Given the description of an element on the screen output the (x, y) to click on. 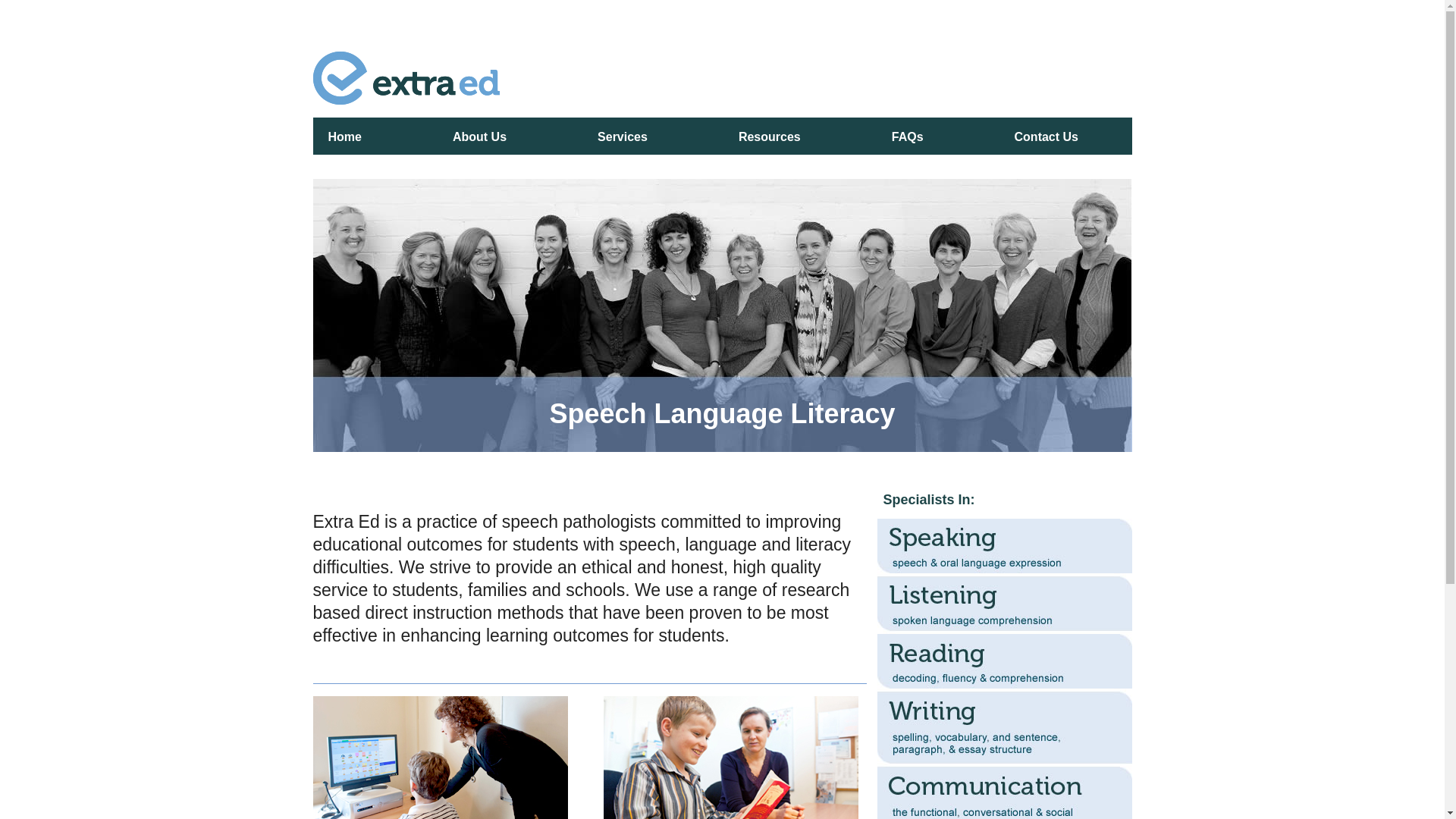
EXTRA ED Element type: text (721, 84)
Contact Us Element type: text (1046, 135)
Home Element type: text (344, 135)
Speech Language Literacy Element type: text (721, 413)
Services Element type: text (622, 135)
About Us Element type: text (479, 135)
FAQs Element type: text (907, 135)
Resources Element type: text (769, 135)
